Given the description of an element on the screen output the (x, y) to click on. 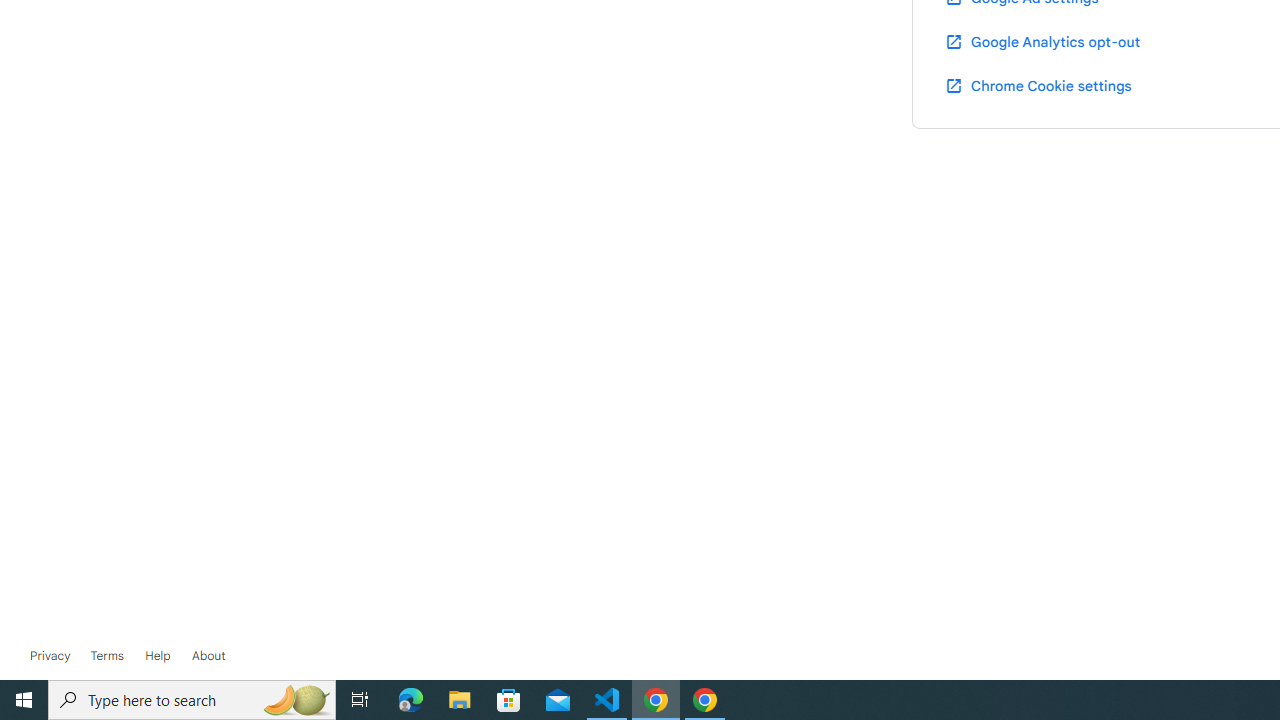
Google Analytics opt-out (1041, 41)
Chrome Cookie settings (1037, 85)
Learn more about Google Account (208, 655)
